Given the description of an element on the screen output the (x, y) to click on. 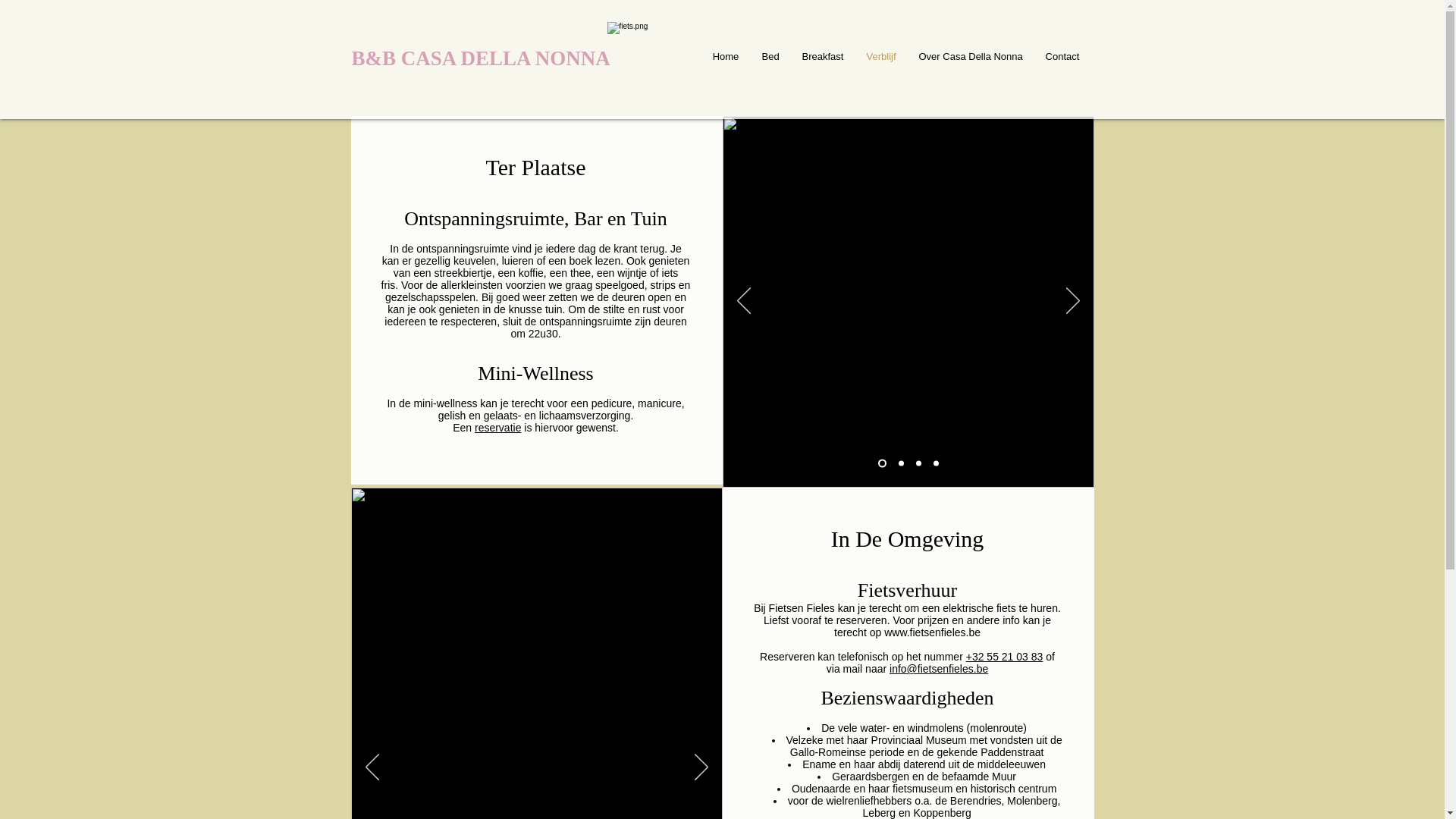
+32 55 21 03 83 Element type: text (1004, 656)
Home Element type: text (724, 56)
Bed Element type: text (770, 56)
Over Casa Della Nonna Element type: text (969, 56)
Contact Element type: text (1062, 56)
www.fietsenfieles.be Element type: text (932, 632)
Verblijf Element type: text (881, 56)
info@fietsenfieles.be Element type: text (938, 668)
B&B CASA DELLA NONNA Element type: text (480, 58)
Breakfast Element type: text (822, 56)
